Given the description of an element on the screen output the (x, y) to click on. 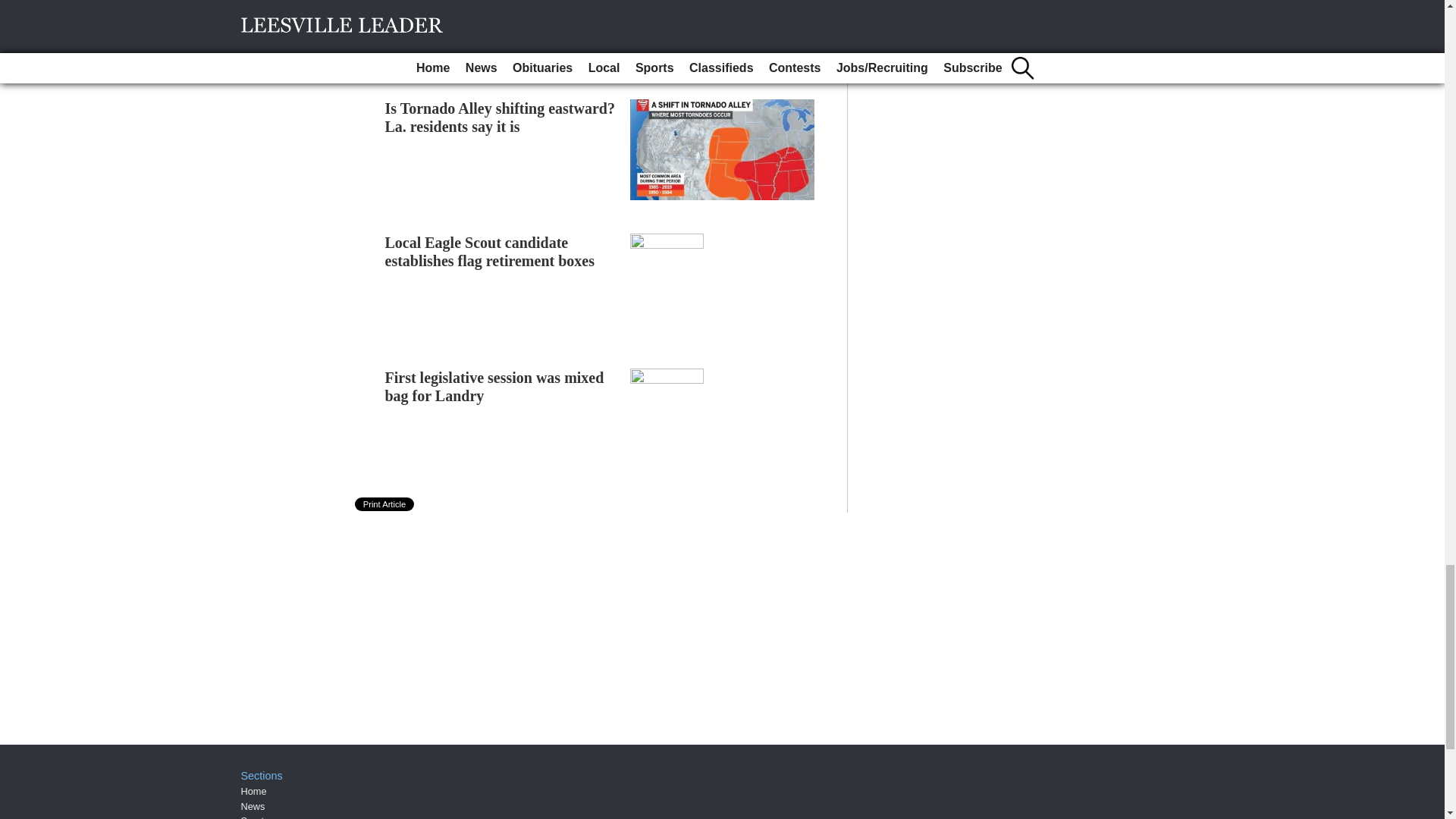
Is Tornado Alley shifting eastward? La. residents say it is (499, 117)
Is Tornado Alley shifting eastward? La. residents say it is (499, 117)
Print Article (384, 504)
First legislative session was mixed bag for Landry (494, 386)
First legislative session was mixed bag for Landry (494, 386)
Sports (255, 816)
Home (253, 790)
News (252, 806)
